Given the description of an element on the screen output the (x, y) to click on. 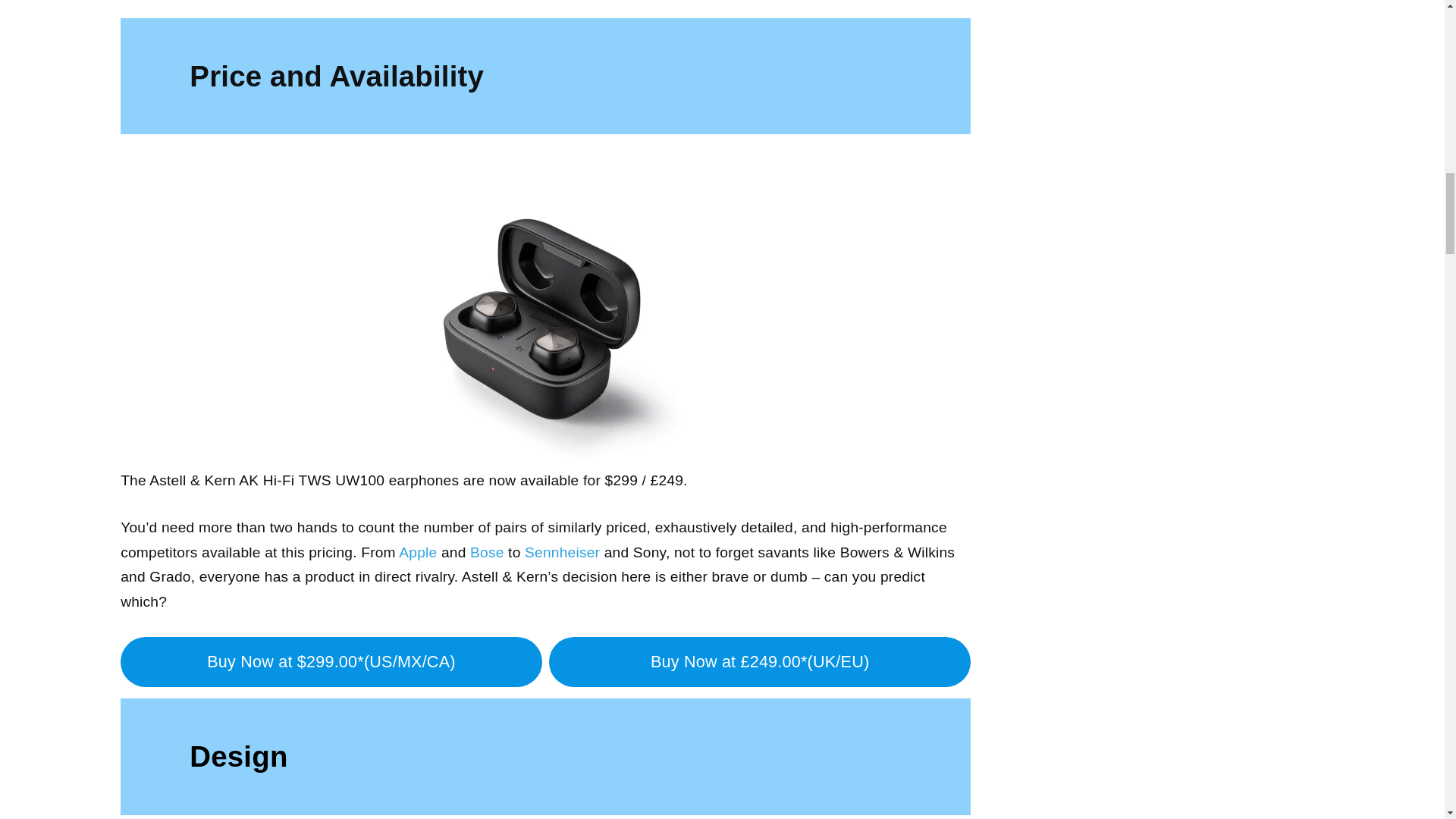
Sennheiser (561, 552)
Read More: (189, 0)
Bose (486, 552)
Apple (417, 552)
